Given the description of an element on the screen output the (x, y) to click on. 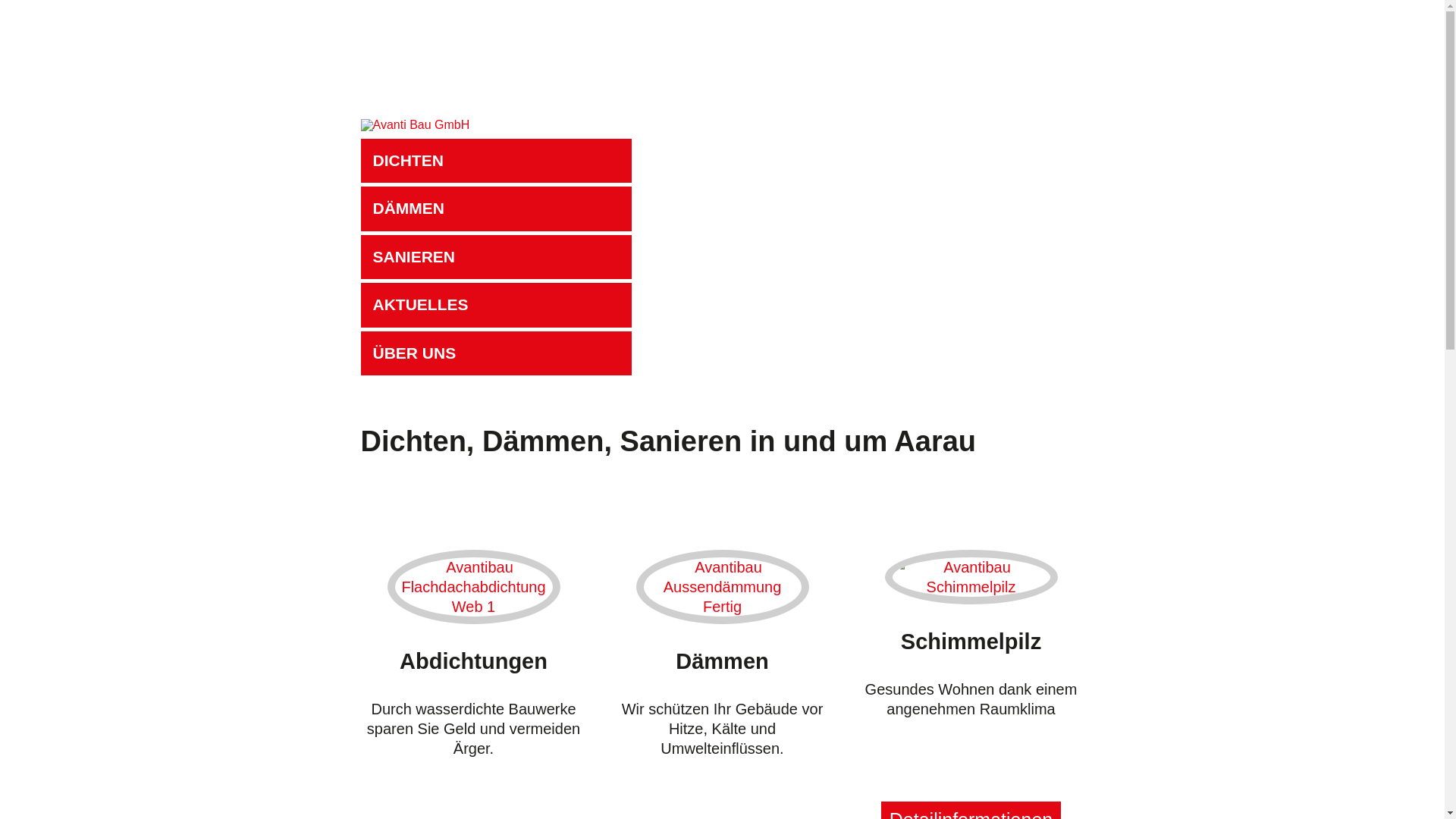
DICHTEN Element type: text (495, 160)
AKTUELLES Element type: text (495, 304)
SANIEREN Element type: text (495, 257)
